Given the description of an element on the screen output the (x, y) to click on. 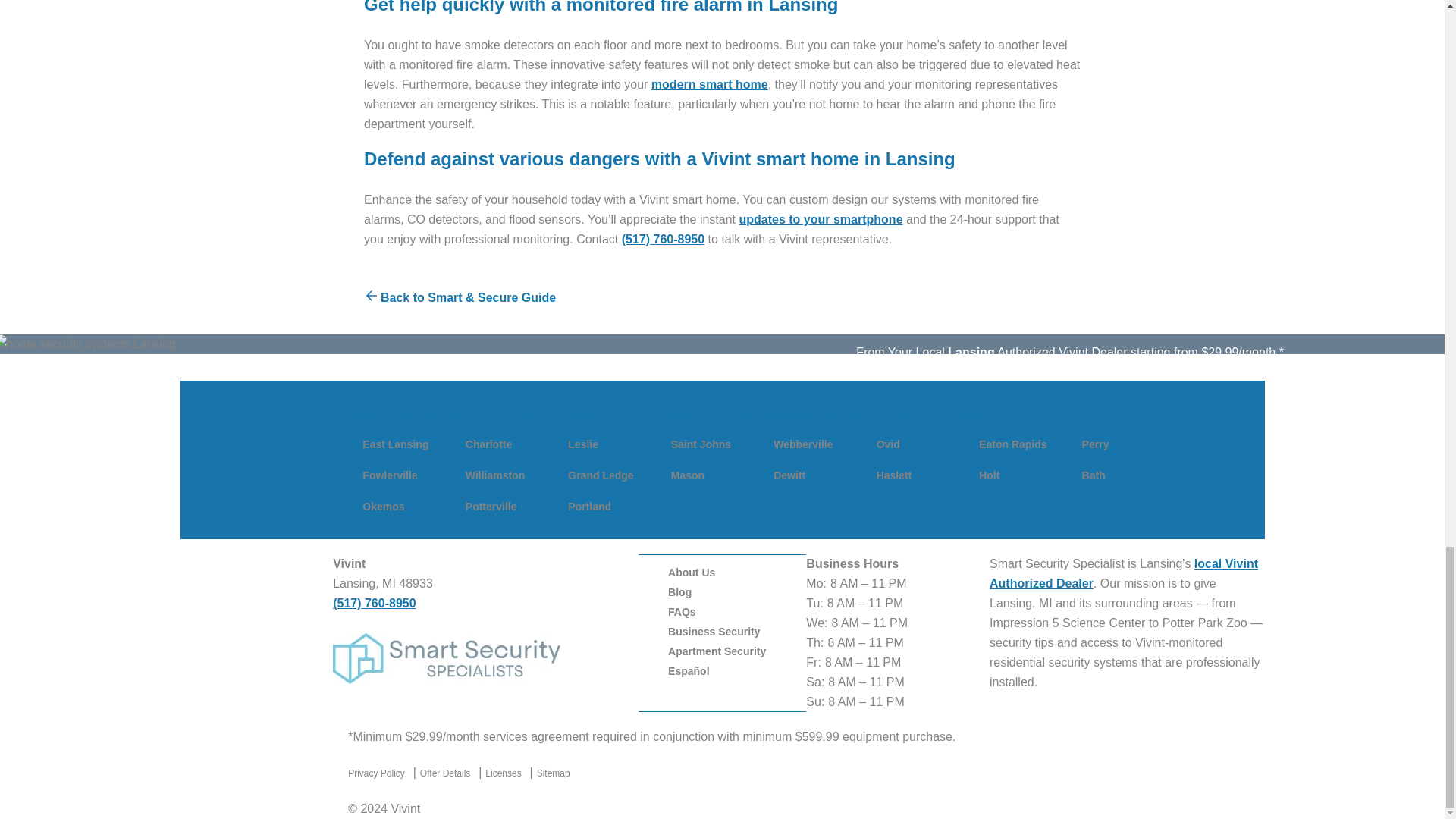
Modern smart home (709, 83)
Notifications to your smartphone (820, 219)
modern smart home (709, 83)
updates to your smartphone (820, 219)
